Given the description of an element on the screen output the (x, y) to click on. 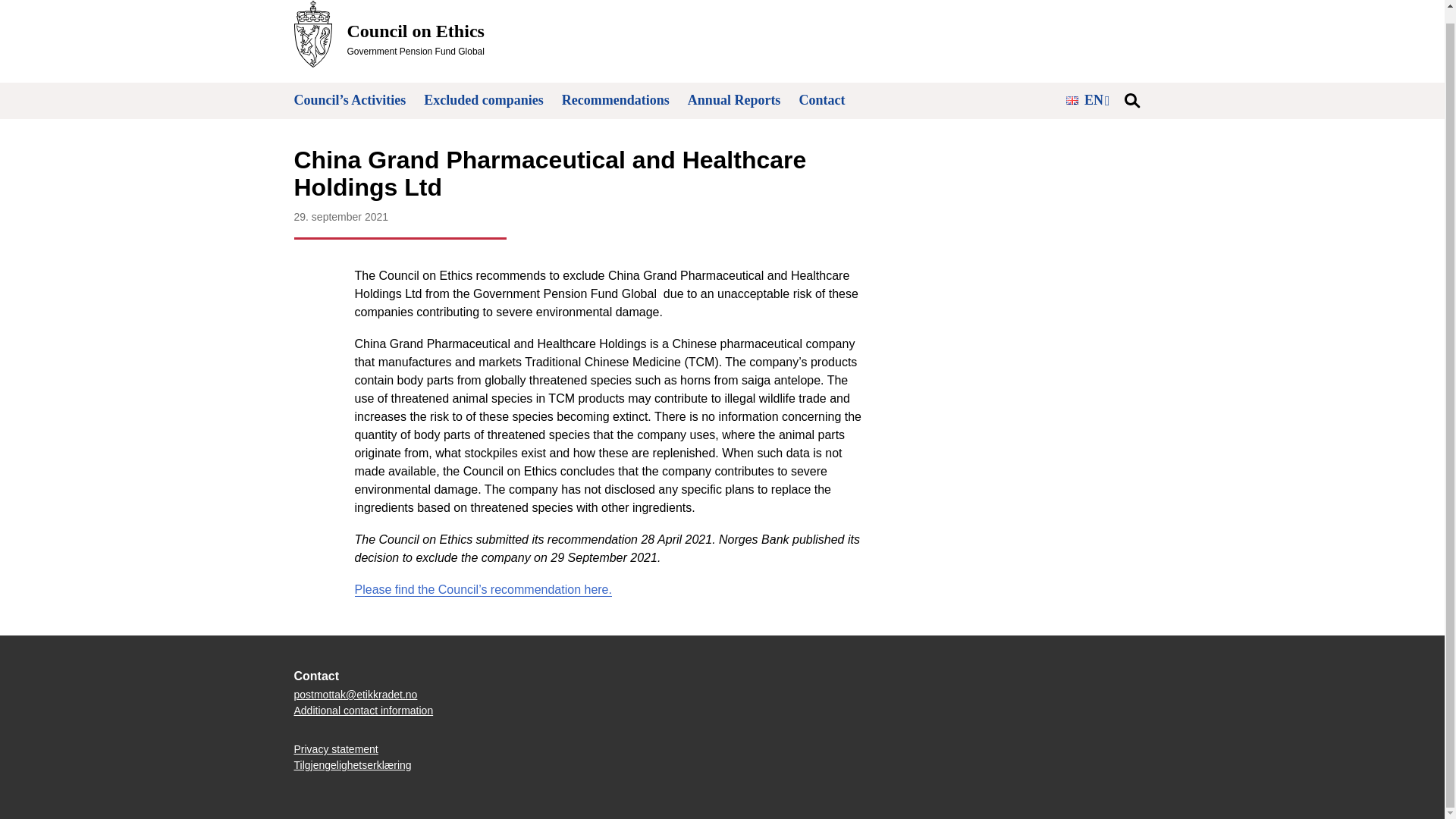
Privacy statement (336, 748)
Annual Reports (733, 99)
EN (1087, 99)
Excluded companies (483, 99)
Recommendations (615, 99)
Contact (820, 99)
Additional contact information (389, 33)
Til forside (363, 710)
